Given the description of an element on the screen output the (x, y) to click on. 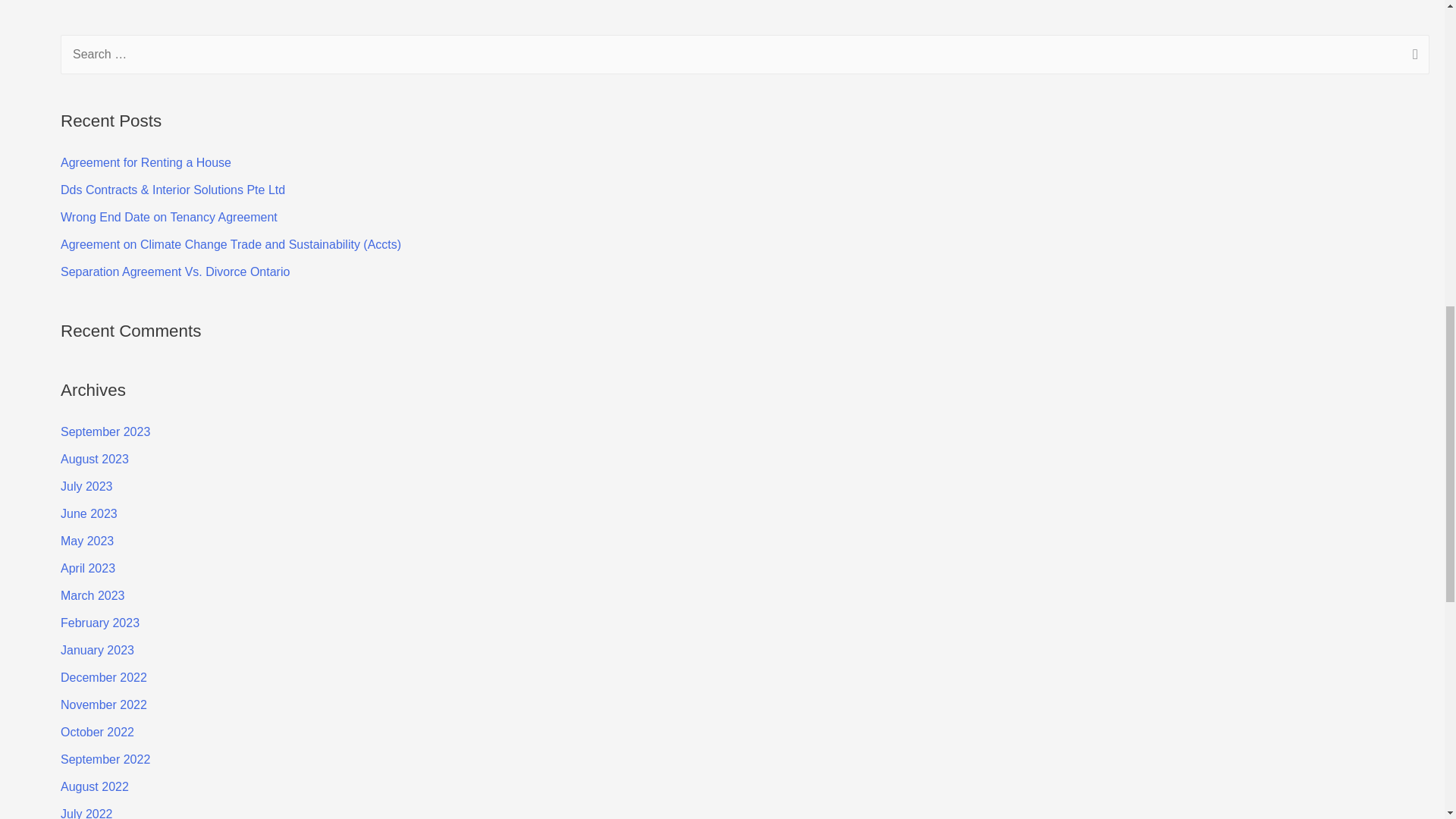
May 2023 (87, 540)
September 2022 (105, 758)
Wrong End Date on Tenancy Agreement (169, 216)
January 2023 (97, 649)
August 2023 (95, 459)
July 2022 (87, 813)
Search (1411, 55)
October 2022 (97, 731)
June 2023 (89, 513)
November 2022 (104, 704)
July 2023 (87, 486)
September 2023 (105, 431)
Separation Agreement Vs. Divorce Ontario (175, 271)
February 2023 (100, 622)
March 2023 (93, 594)
